Given the description of an element on the screen output the (x, y) to click on. 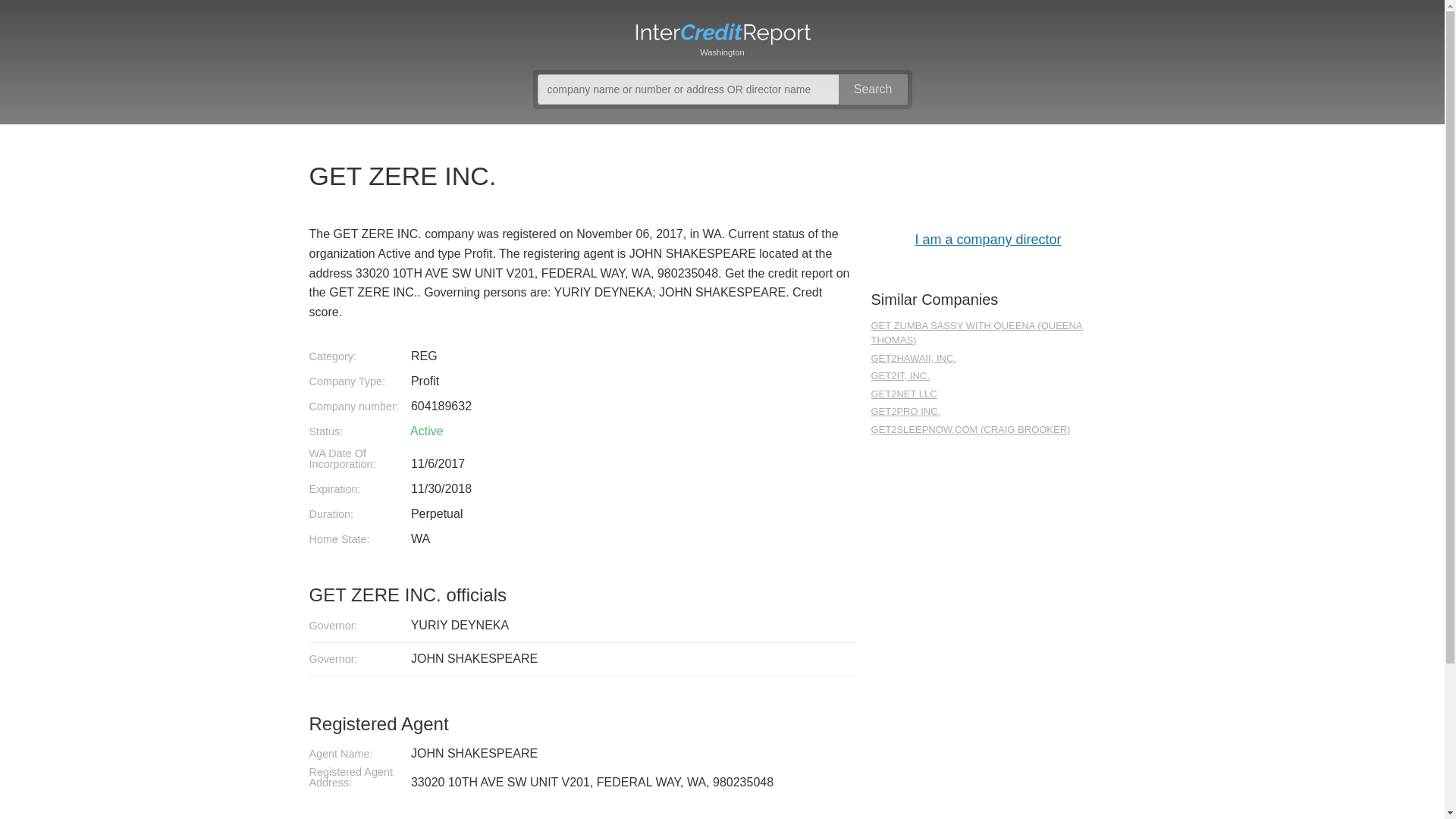
Search (872, 89)
GET2PRO INC. (987, 411)
GET2HAWAII, INC. (987, 359)
I am a company director (986, 238)
GET2NET LLC (987, 394)
GET2IT, INC. (987, 376)
Washington (721, 38)
I am a company director (986, 238)
